Given the description of an element on the screen output the (x, y) to click on. 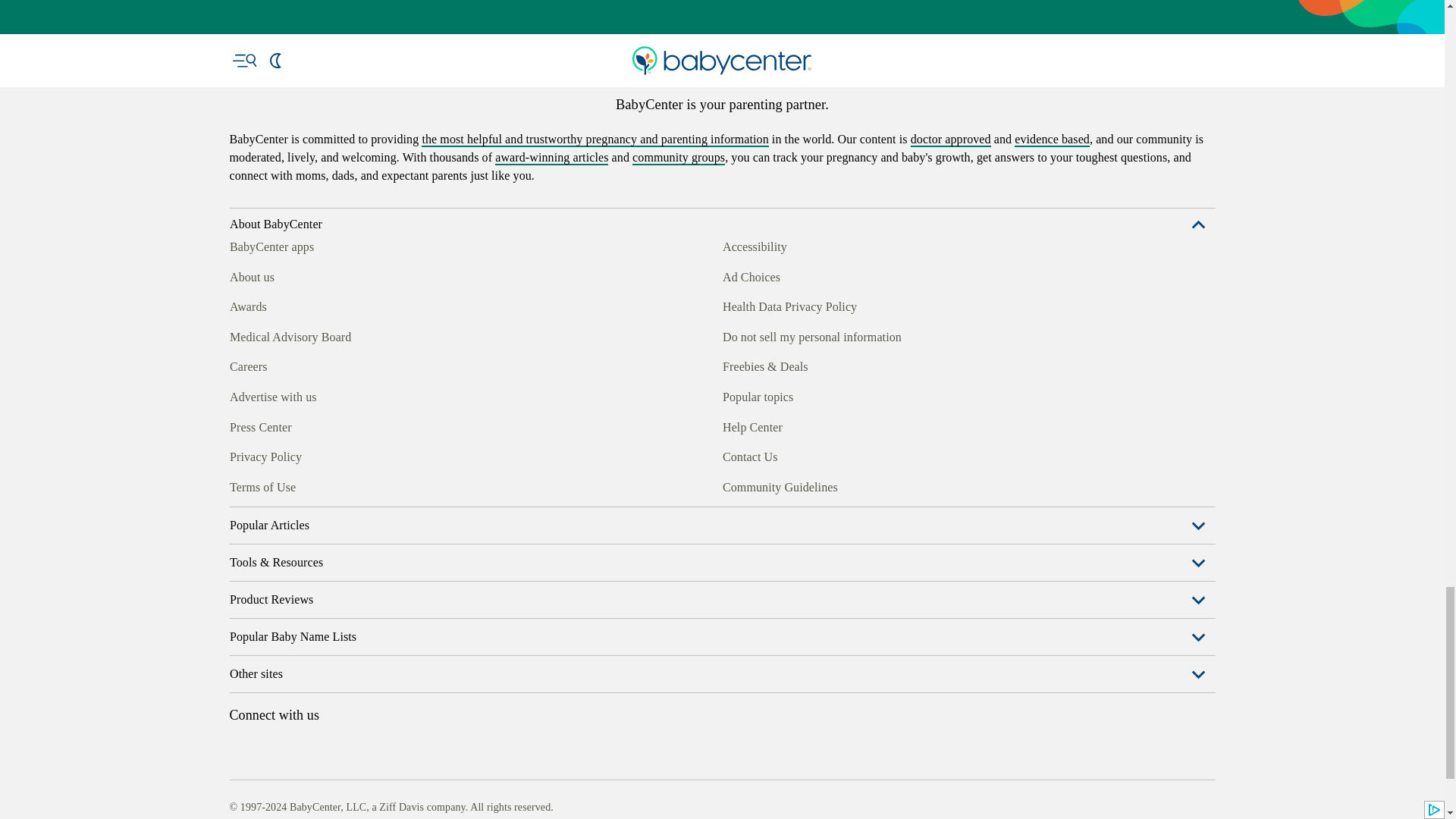
BabyCenter YouTube channel (344, 485)
BabyCenter Twitter feed (379, 485)
BabyCenter Facebook page (239, 485)
BabyCenter Pinterest board (309, 485)
BabyCenter Instagram feed (274, 485)
